Given the description of an element on the screen output the (x, y) to click on. 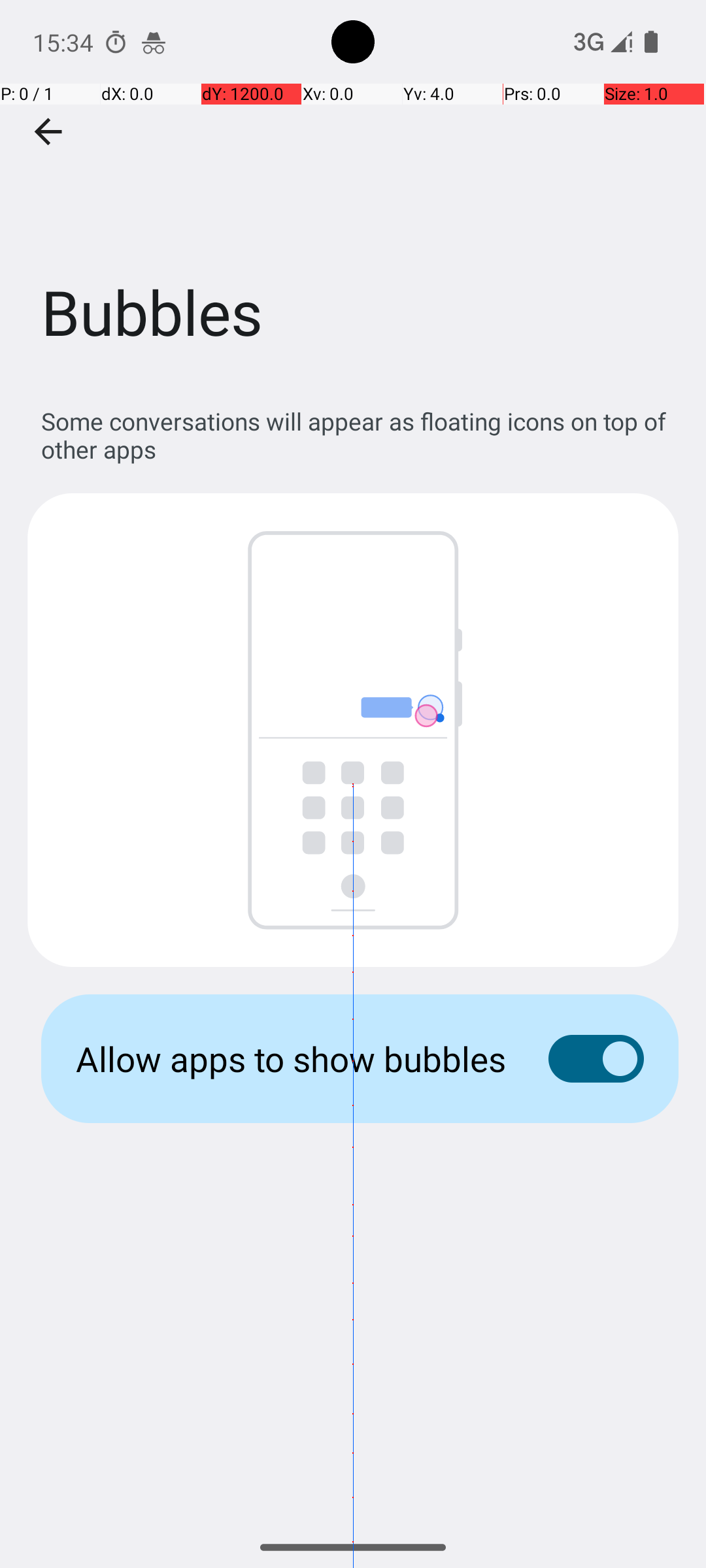
Some conversations will appear as floating icons on top of other apps Element type: android.widget.TextView (359, 434)
Allow apps to show bubbles Element type: android.widget.TextView (291, 1058)
